Given the description of an element on the screen output the (x, y) to click on. 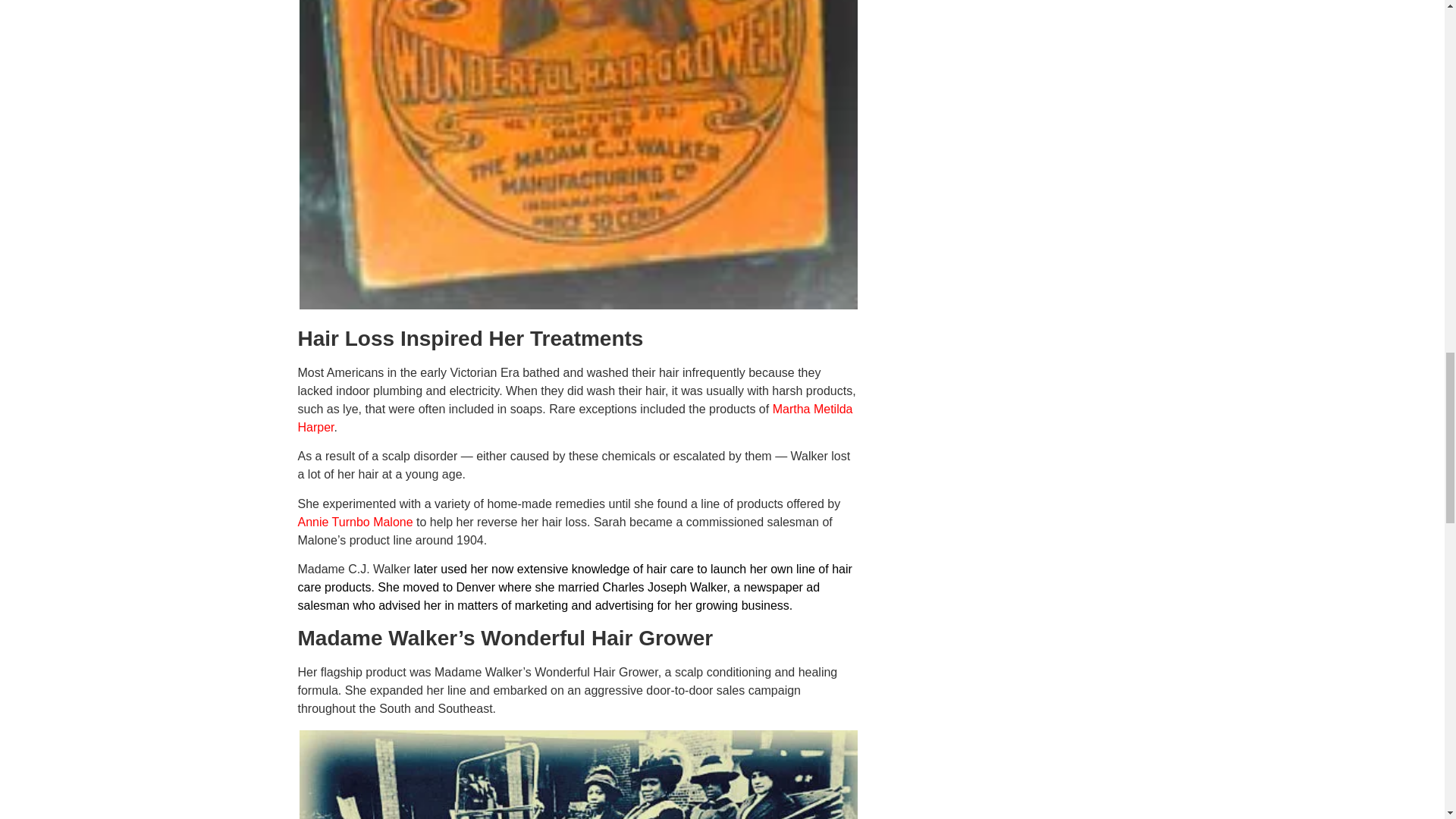
Madame Walker driving her friends (577, 774)
Annie Turnbo Malone (354, 521)
Martha Metilda Harper (574, 418)
